Given the description of an element on the screen output the (x, y) to click on. 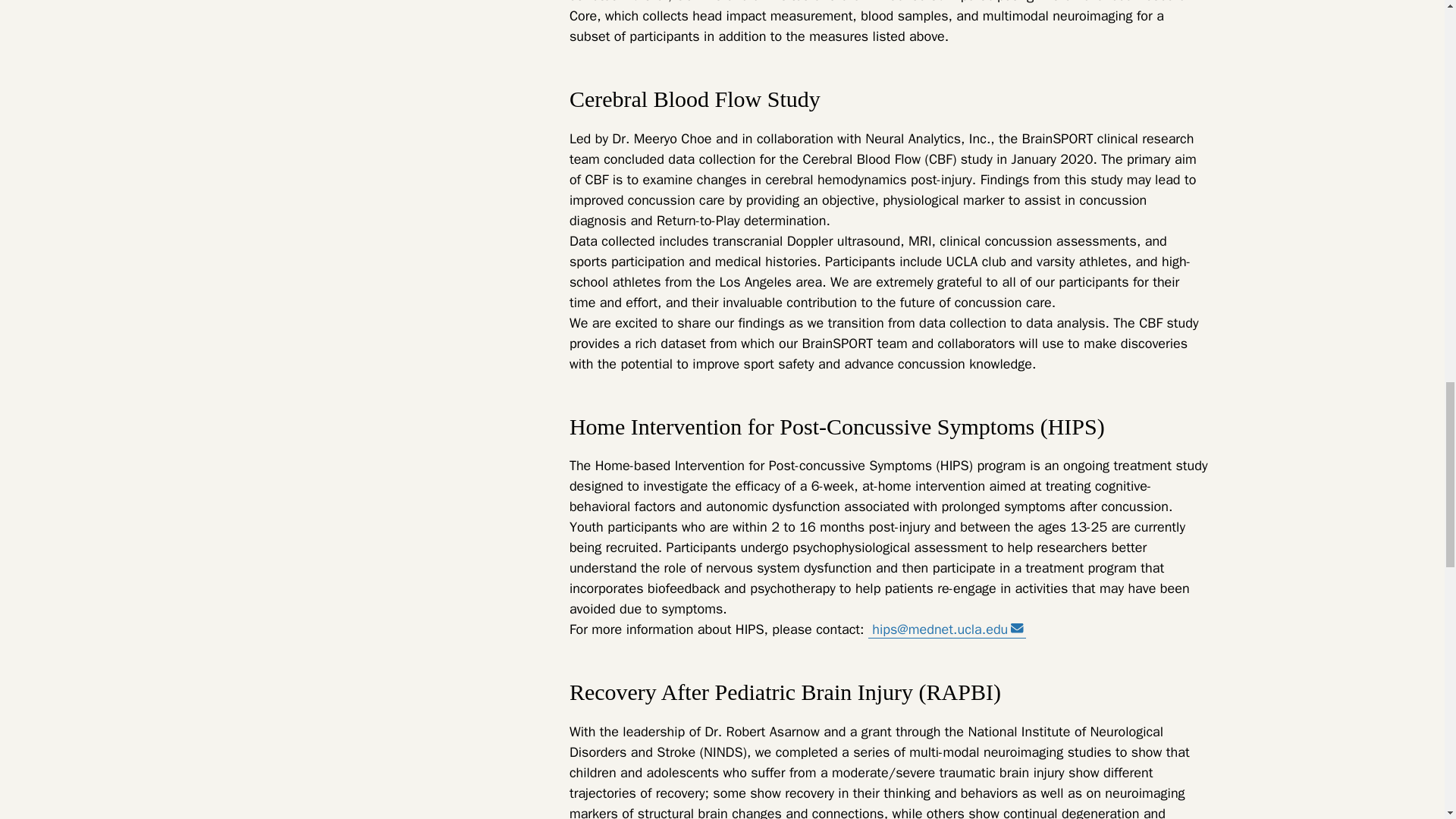
Link sends email (1016, 627)
